Given the description of an element on the screen output the (x, y) to click on. 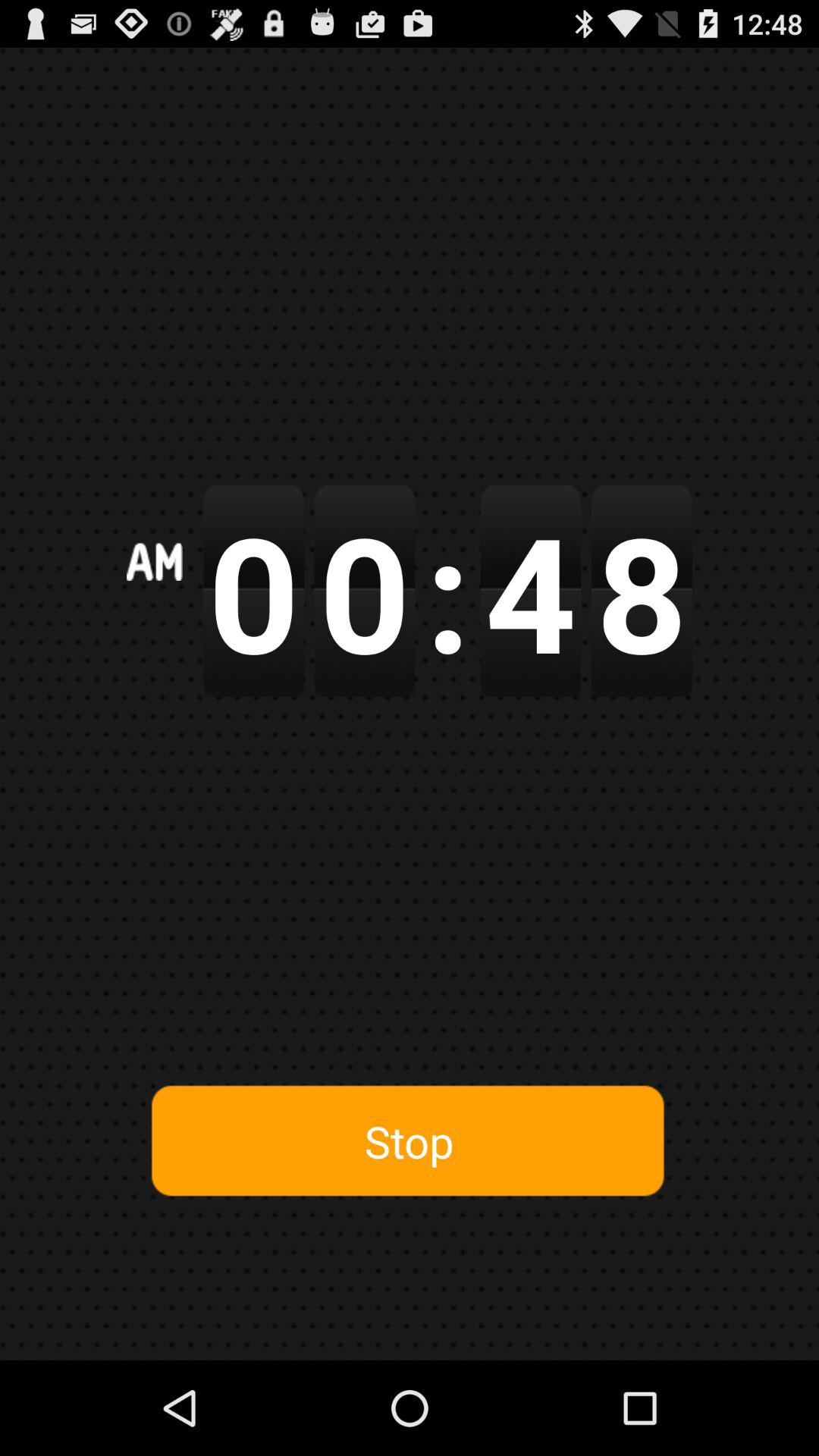
click the stop item (408, 1141)
